Given the description of an element on the screen output the (x, y) to click on. 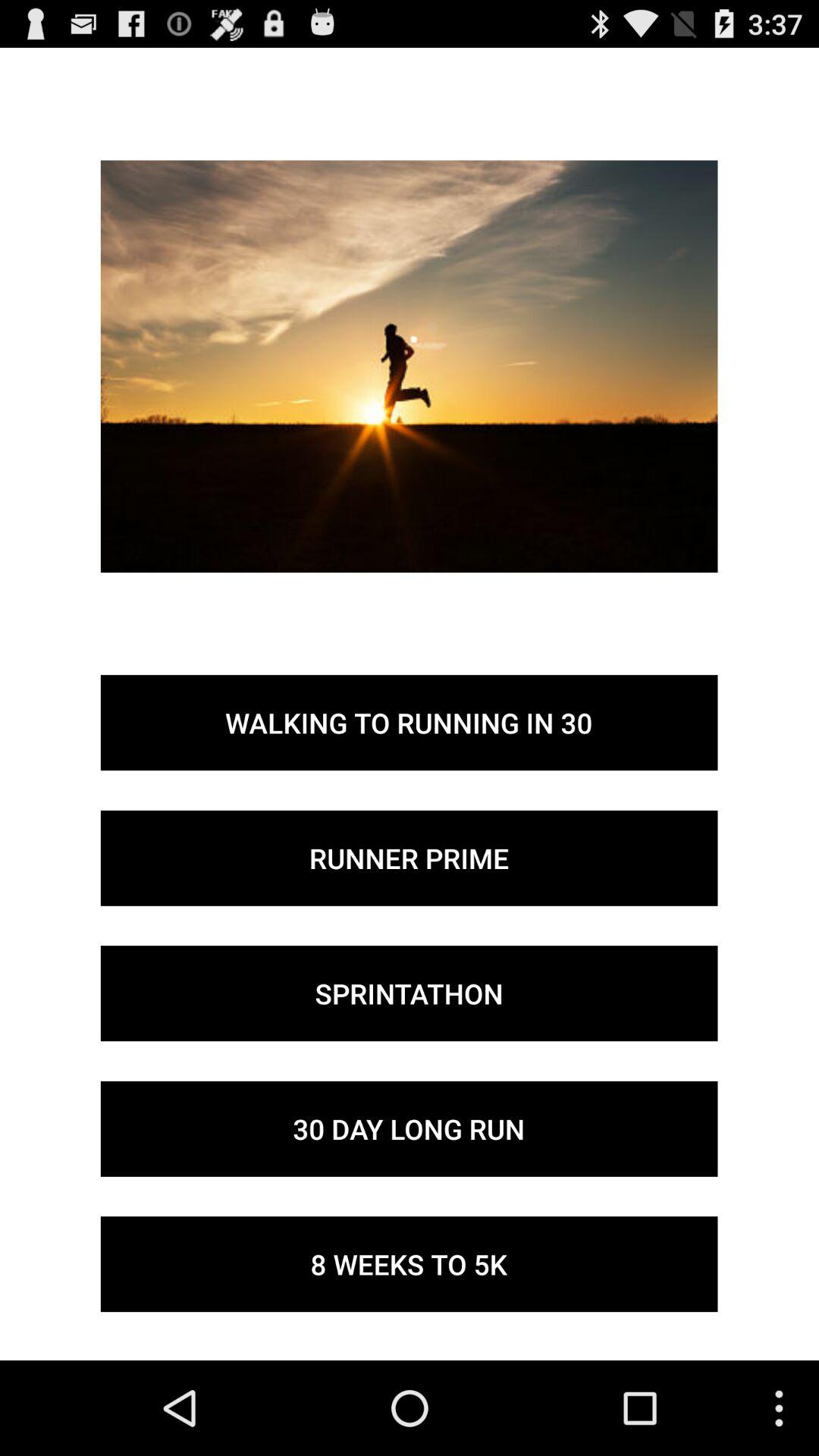
click the 8 weeks to item (408, 1264)
